Given the description of an element on the screen output the (x, y) to click on. 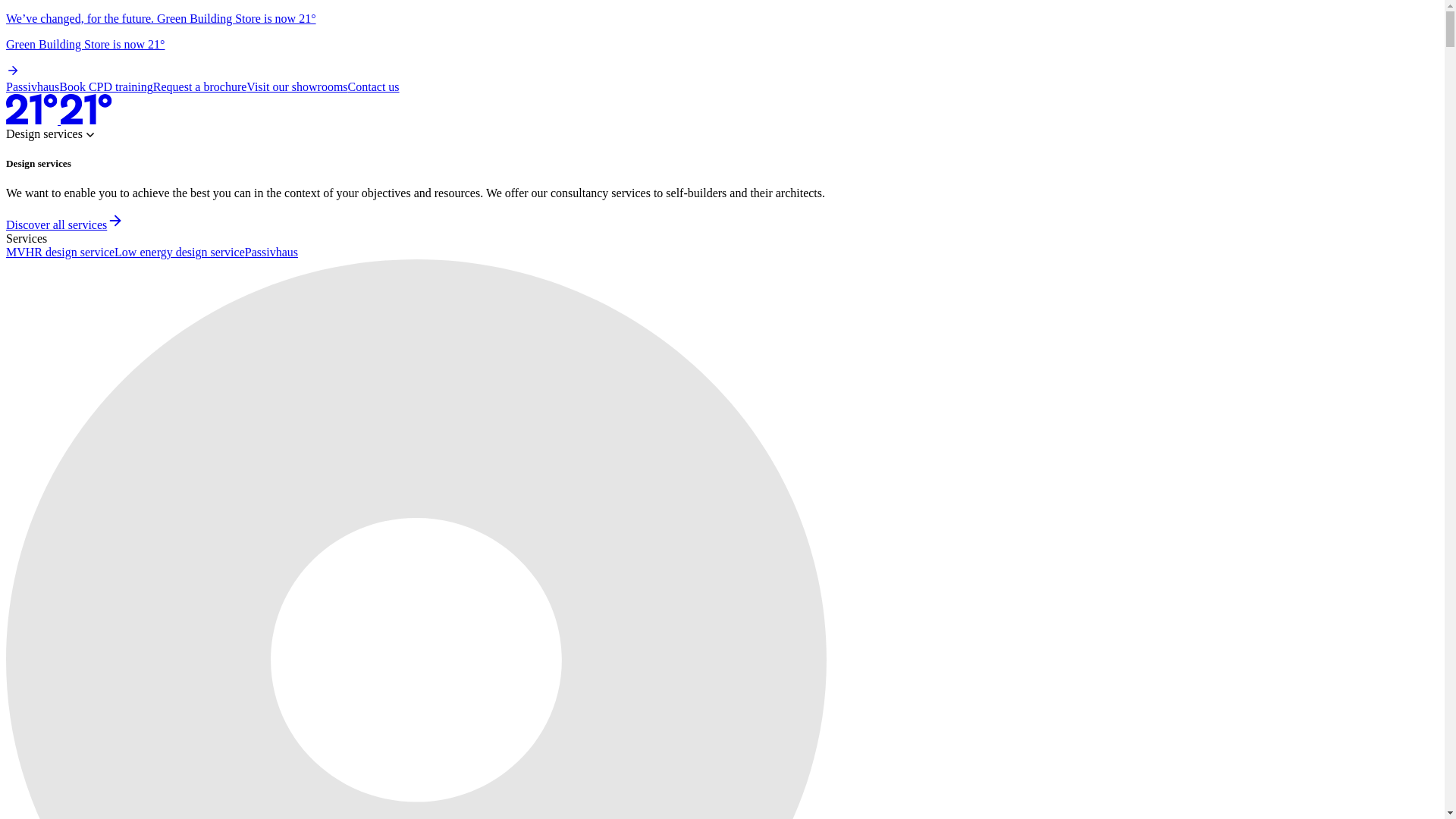
Request a brochure (199, 86)
Passivhaus (32, 86)
Low energy design service (179, 251)
Passivhaus (271, 251)
Contact us (372, 86)
Book CPD training (105, 86)
Visit our showrooms (296, 86)
MVHR design service (60, 251)
Discover all services (64, 224)
